Given the description of an element on the screen output the (x, y) to click on. 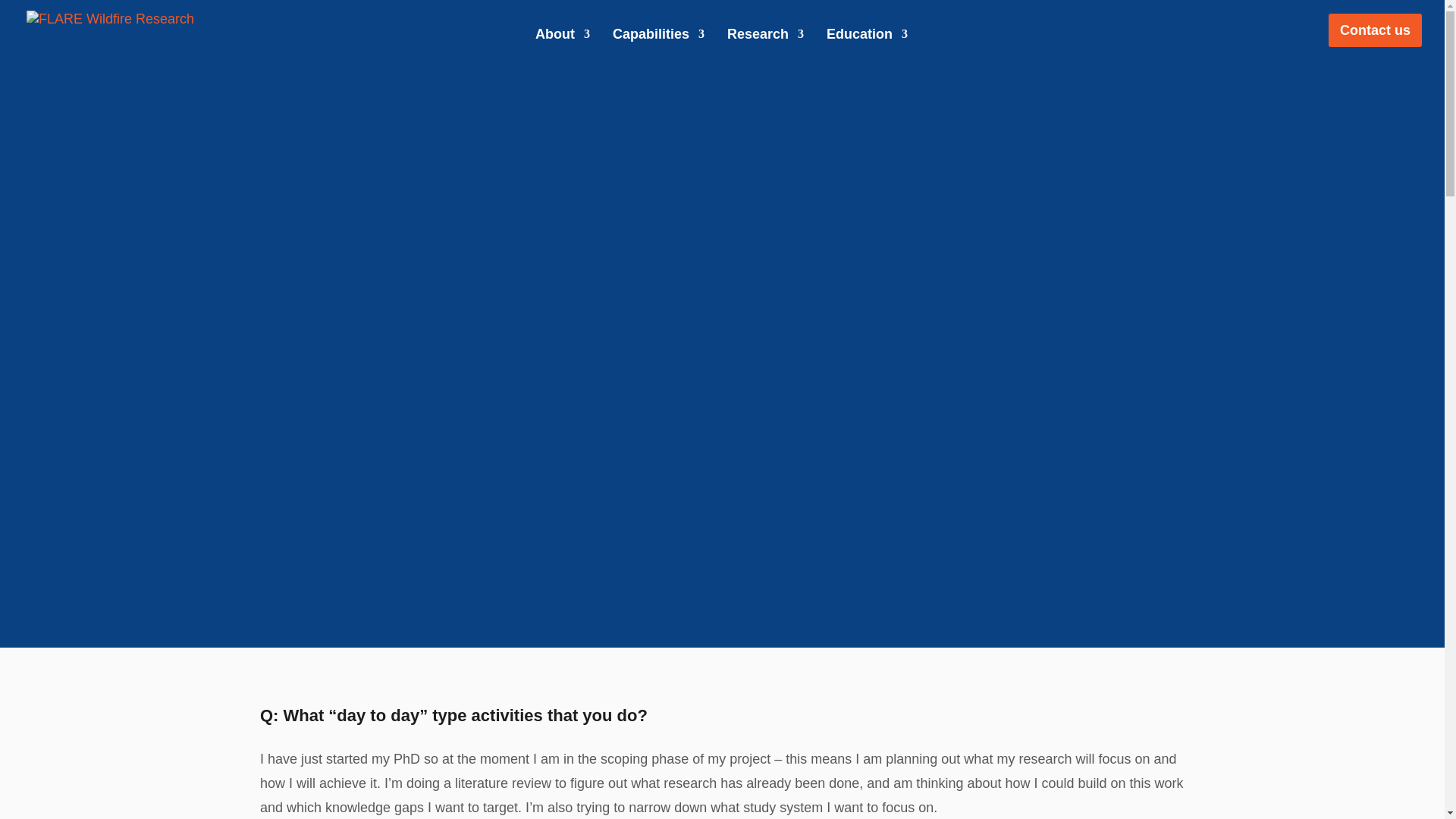
Contact us (1374, 29)
Research (764, 47)
Education (867, 47)
About (562, 47)
Capabilities (658, 47)
